Given the description of an element on the screen output the (x, y) to click on. 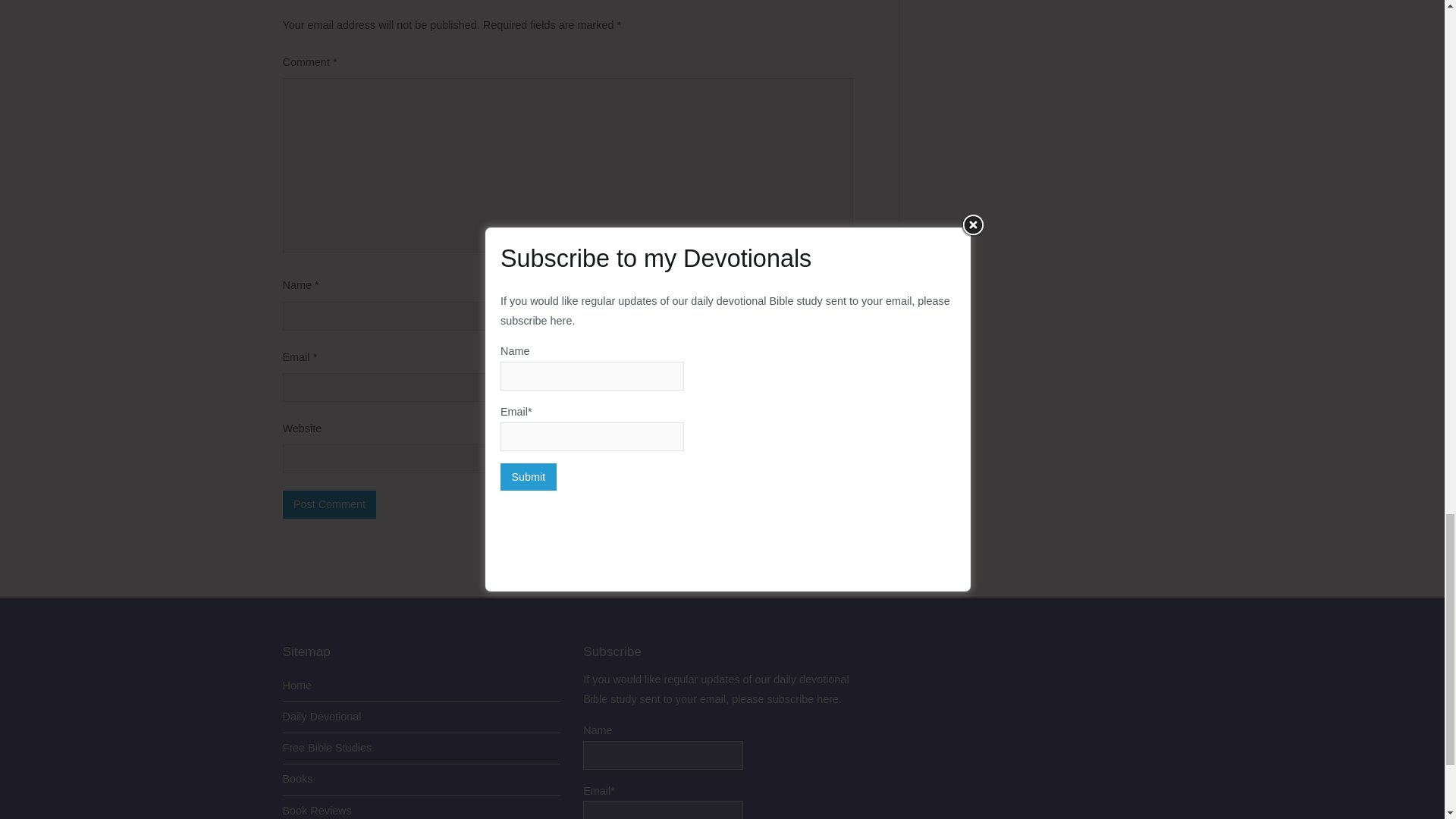
Post Comment (328, 503)
Post Comment (328, 503)
Daily Devotional (421, 716)
Home (421, 685)
